Given the description of an element on the screen output the (x, y) to click on. 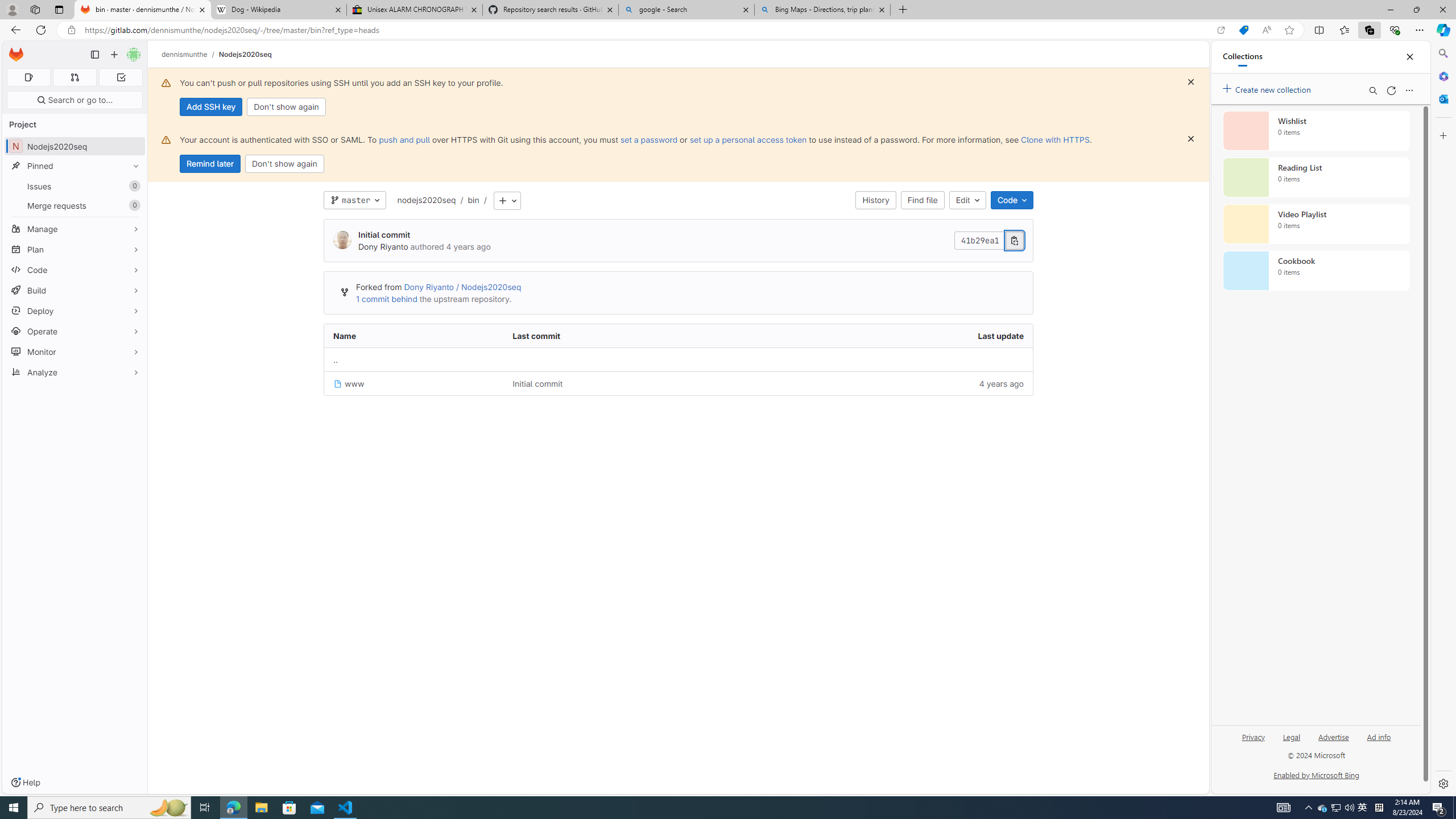
Nodejs2020seq (245, 53)
Merge requests0 (74, 205)
google - Search (685, 9)
Unpin Merge requests (132, 205)
Dog - Wikipedia (277, 9)
Monitor (74, 351)
Analyze (74, 371)
Initial commit (537, 383)
Ad info (1378, 736)
1 commit behind (386, 299)
